Given the description of an element on the screen output the (x, y) to click on. 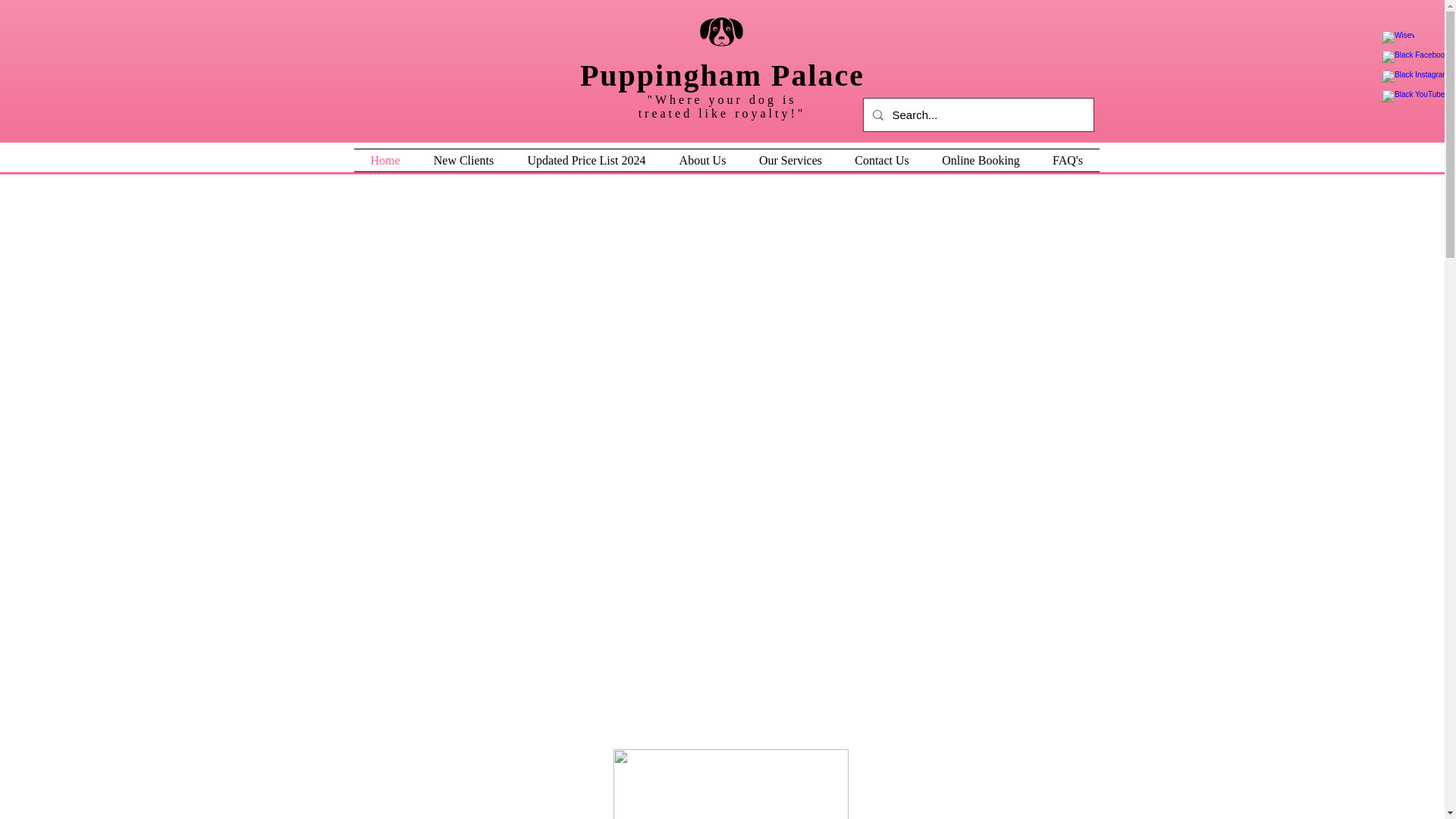
Puppingham Palace (721, 75)
Our Services (790, 160)
About Us (702, 160)
Updated Price List 2024 (586, 160)
FAQ's (1067, 160)
Home (384, 160)
Contact Us (882, 160)
"Where your dog is treated like royalty!" (722, 106)
New Clients (463, 160)
Online Booking (979, 160)
